Given the description of an element on the screen output the (x, y) to click on. 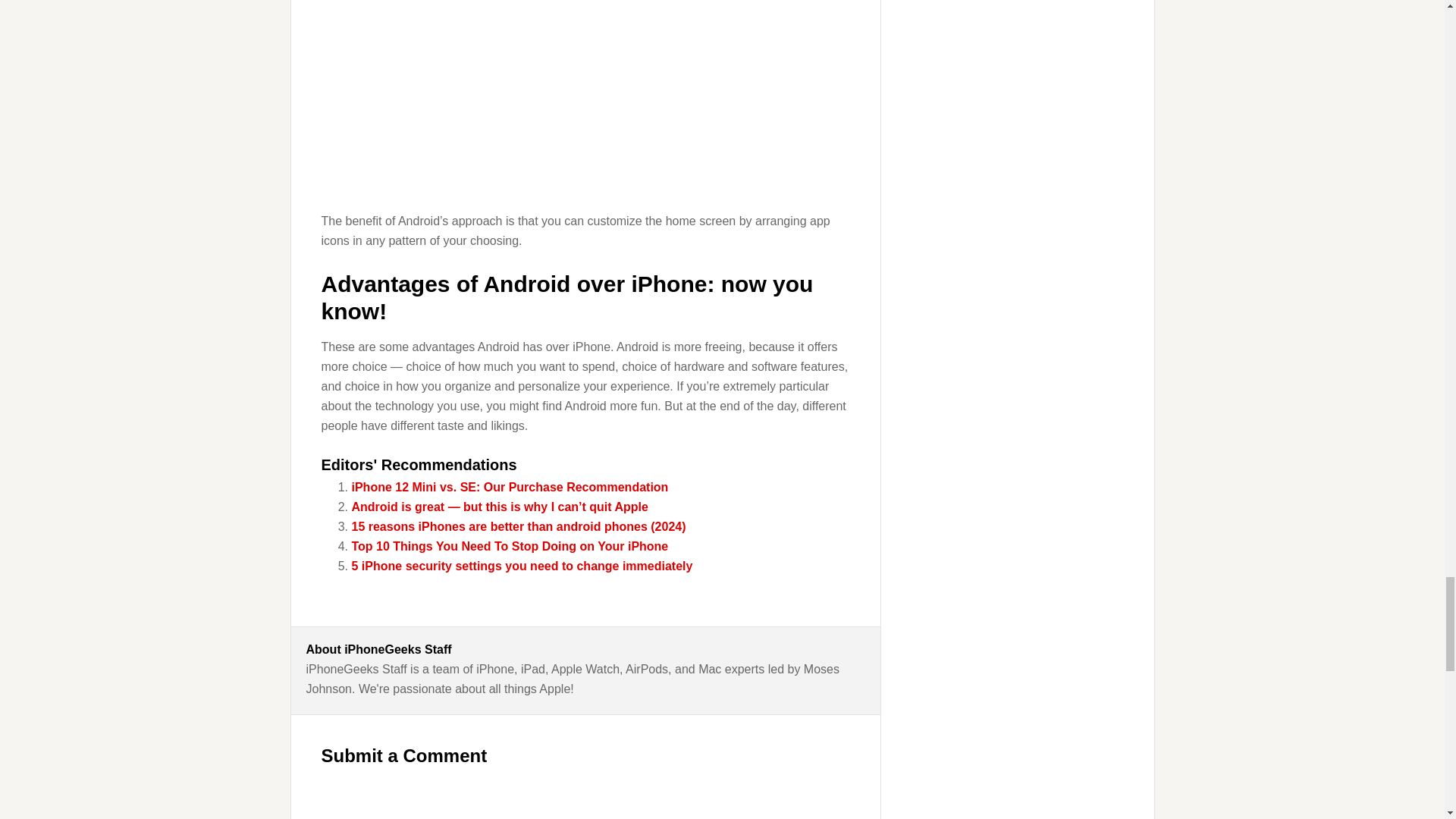
5 iPhone security settings you need to change immediately (522, 565)
Top 10 Things You Need To Stop Doing on Your iPhone (510, 545)
iPhone 12 Mini vs. SE: Our Purchase Recommendation (510, 486)
5 iPhone security settings you need to change immediately (522, 565)
iPhone 12 Mini vs. SE: Our Purchase Recommendation (510, 486)
Comment Form (585, 799)
Top 10 Things You Need To Stop Doing on Your iPhone (510, 545)
